Given the description of an element on the screen output the (x, y) to click on. 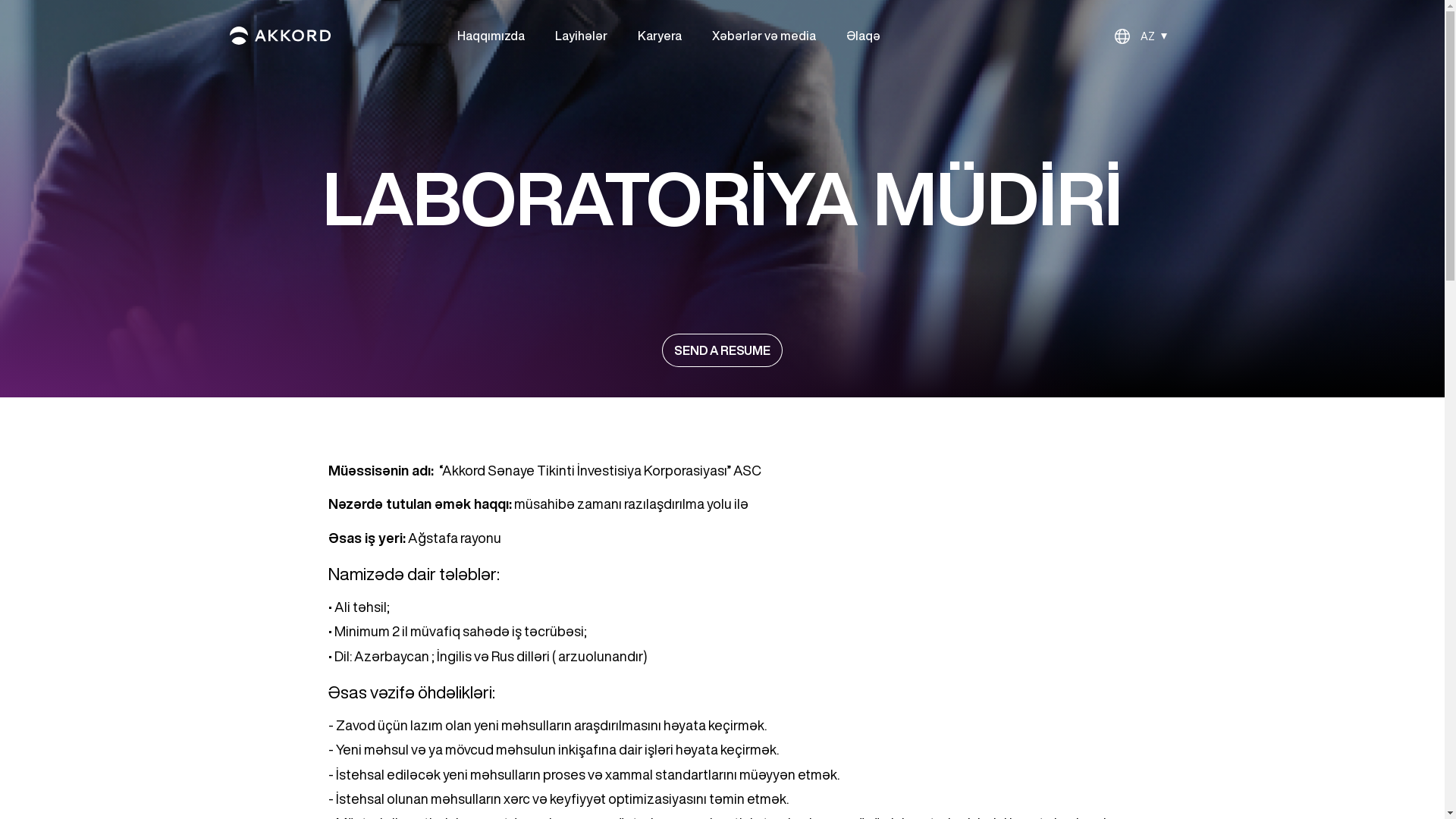
SEND A RESUME Element type: text (722, 350)
Karyera Element type: text (658, 35)
AZ Element type: text (1140, 36)
